Given the description of an element on the screen output the (x, y) to click on. 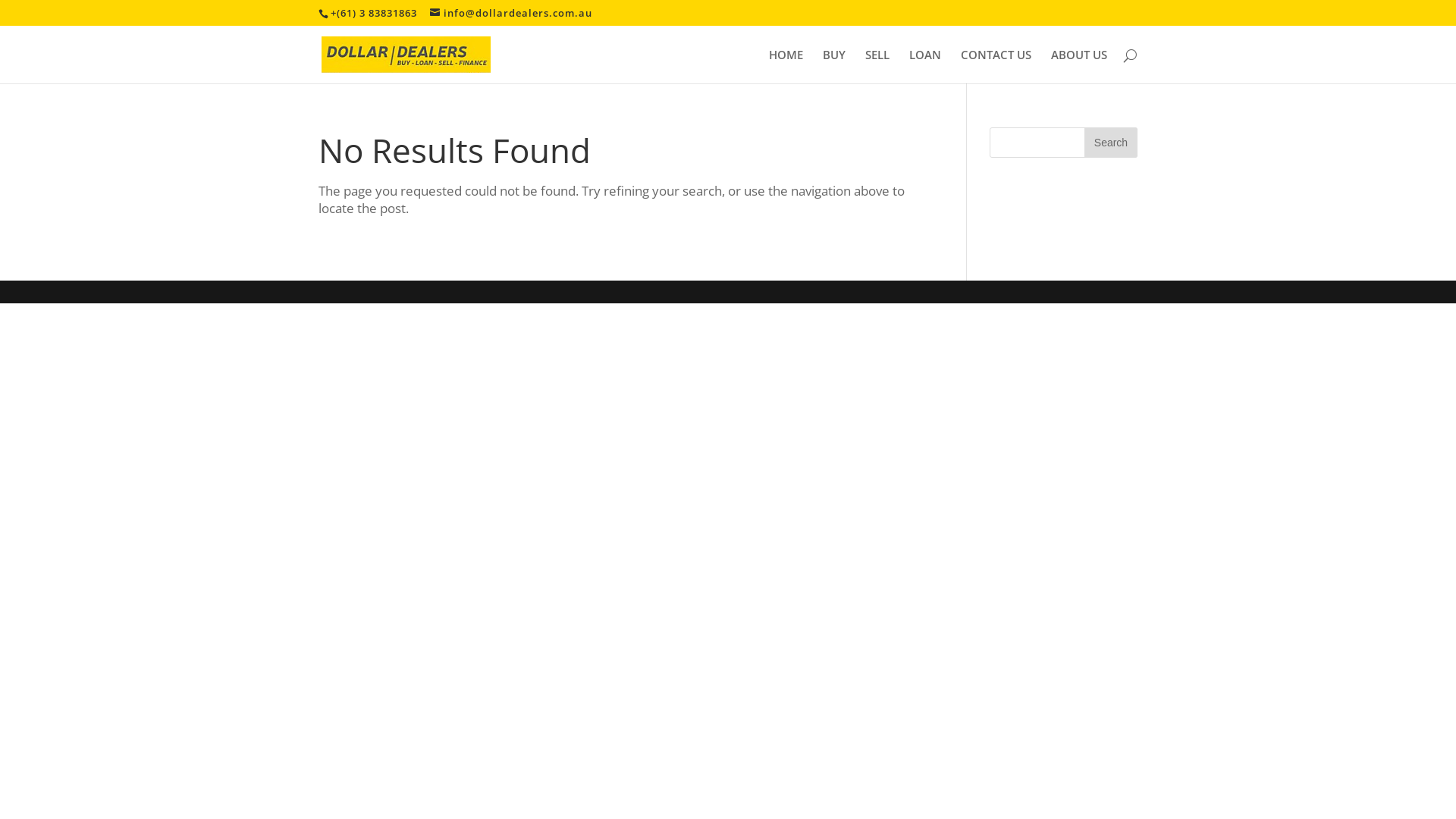
Search Element type: text (1110, 142)
HOME Element type: text (785, 66)
LOAN Element type: text (925, 66)
ABOUT US Element type: text (1079, 66)
info@dollardealers.com.au Element type: text (510, 12)
CONTACT US Element type: text (995, 66)
BUY Element type: text (833, 66)
SELL Element type: text (877, 66)
